Given the description of an element on the screen output the (x, y) to click on. 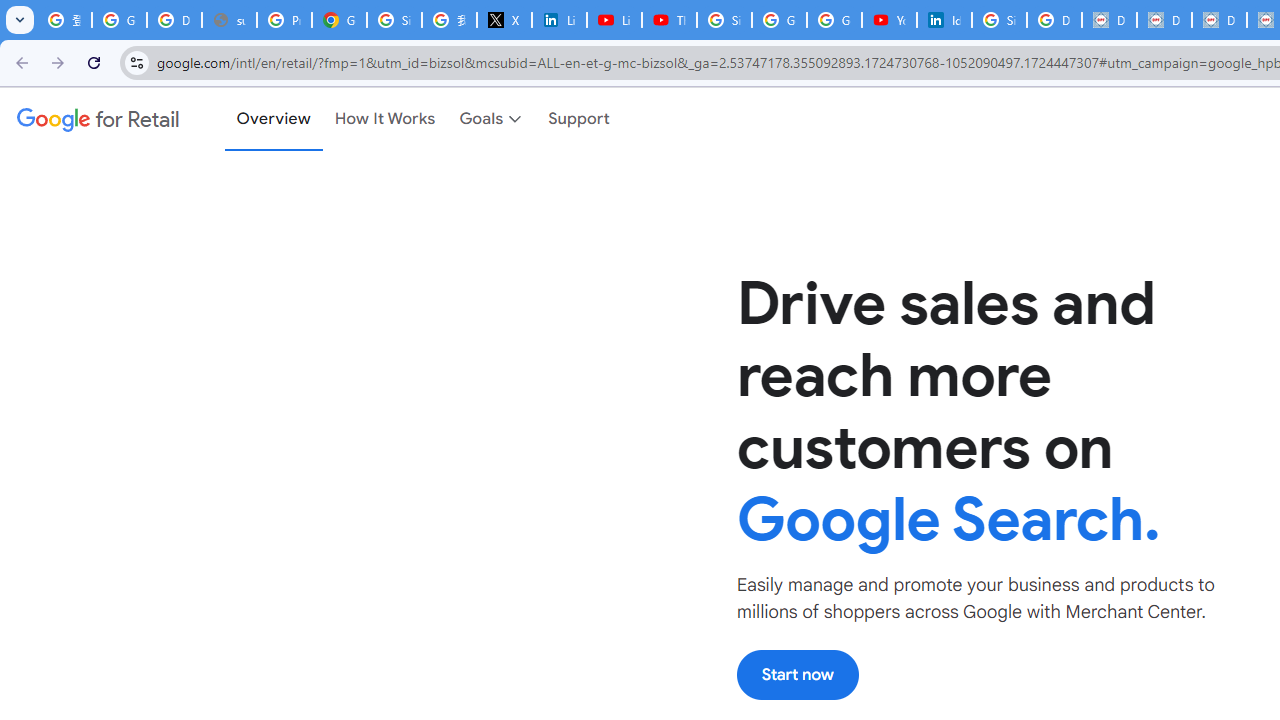
LinkedIn - YouTube (614, 20)
Data Privacy Framework (1108, 20)
Sign in - Google Accounts (724, 20)
How It Works (385, 119)
